Given the description of an element on the screen output the (x, y) to click on. 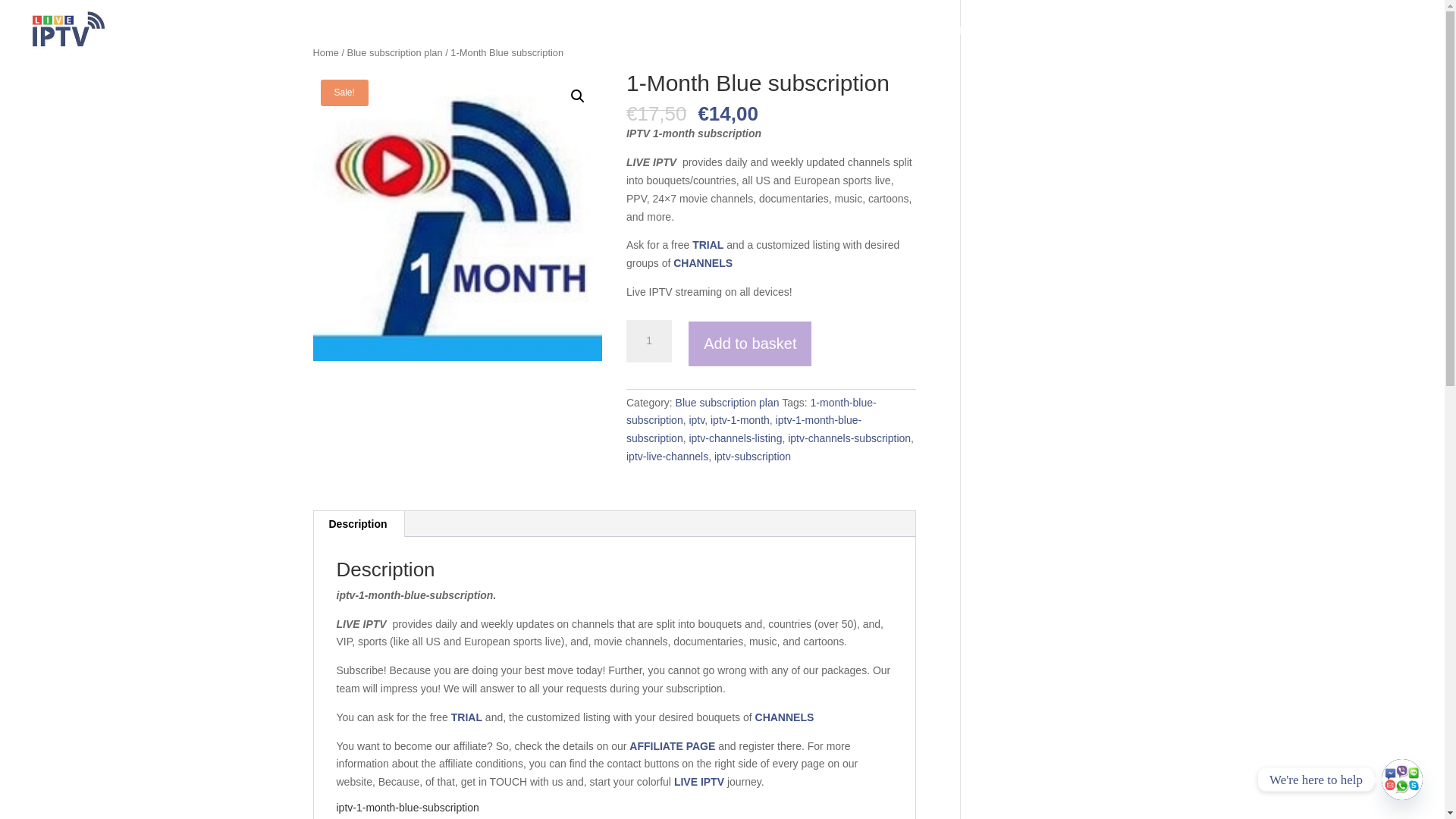
CHANNELS (702, 263)
IPTV standards (1242, 42)
Channels (845, 42)
1 (648, 341)
Original price:14 (727, 113)
IPTV Free Test (765, 42)
Become an Affiliate (944, 42)
Home (325, 52)
Original price:17.5 (656, 113)
Blue subscription plan (394, 52)
